Given the description of an element on the screen output the (x, y) to click on. 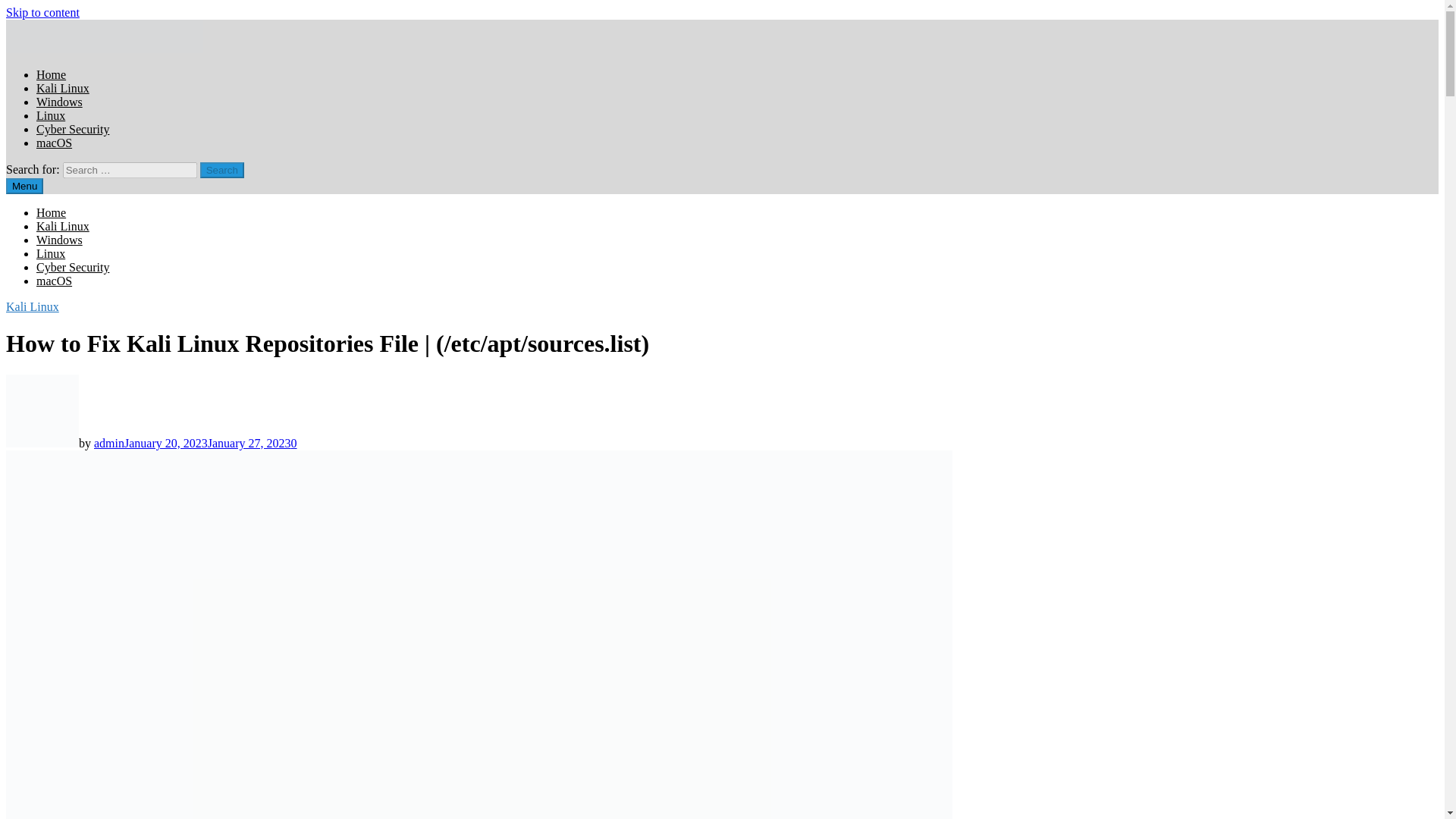
Kali Linux (32, 306)
Home (50, 74)
Linux (50, 115)
Menu (24, 186)
Search (222, 170)
Kali Linux (62, 226)
Linux (50, 253)
Cyber Security (72, 128)
Skip to content (42, 11)
macOS (53, 280)
Home (50, 212)
Search (222, 170)
Cyber Security (72, 267)
Windows (59, 239)
Windows (59, 101)
